Given the description of an element on the screen output the (x, y) to click on. 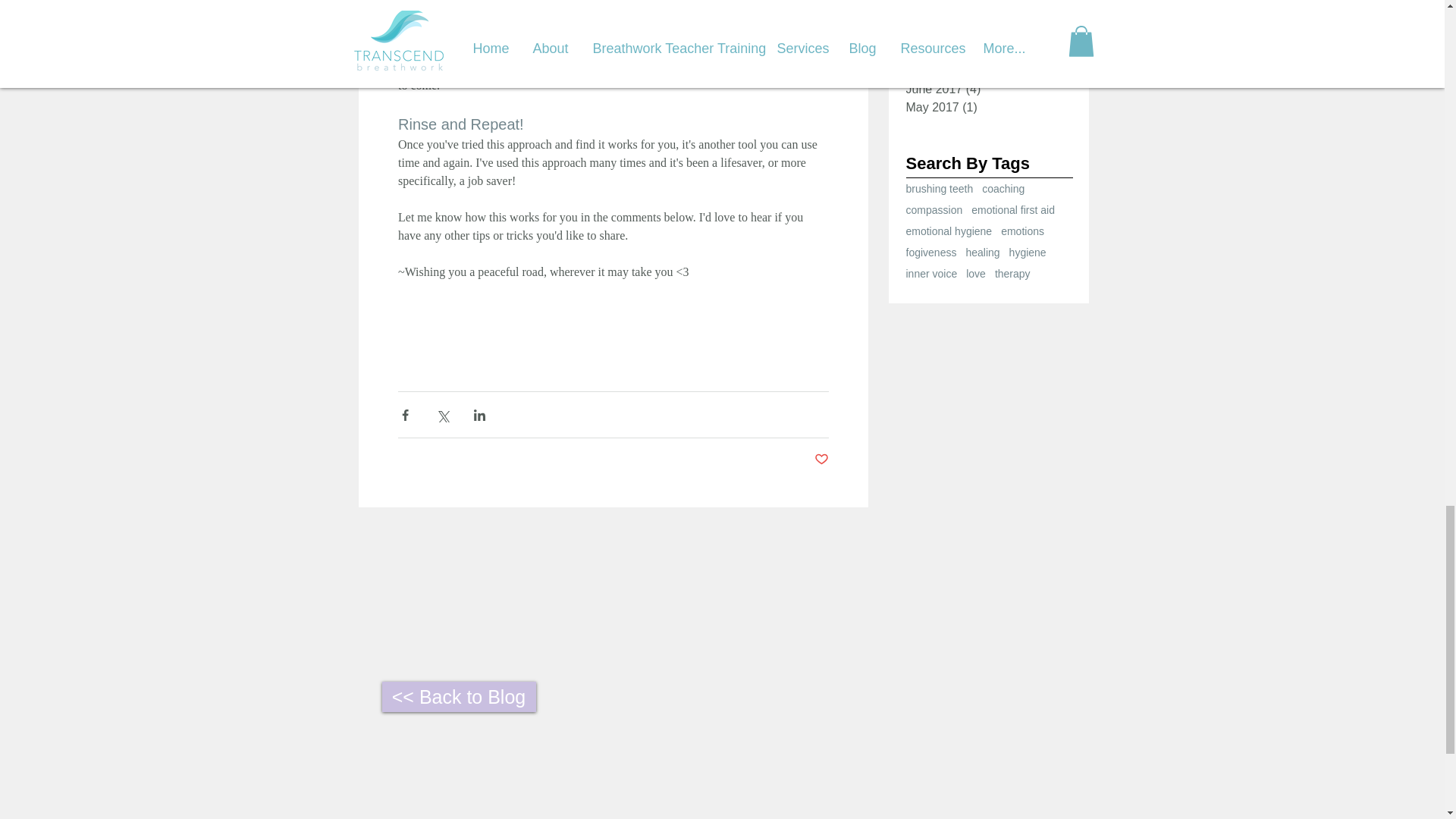
Post not marked as liked (820, 459)
